Given the description of an element on the screen output the (x, y) to click on. 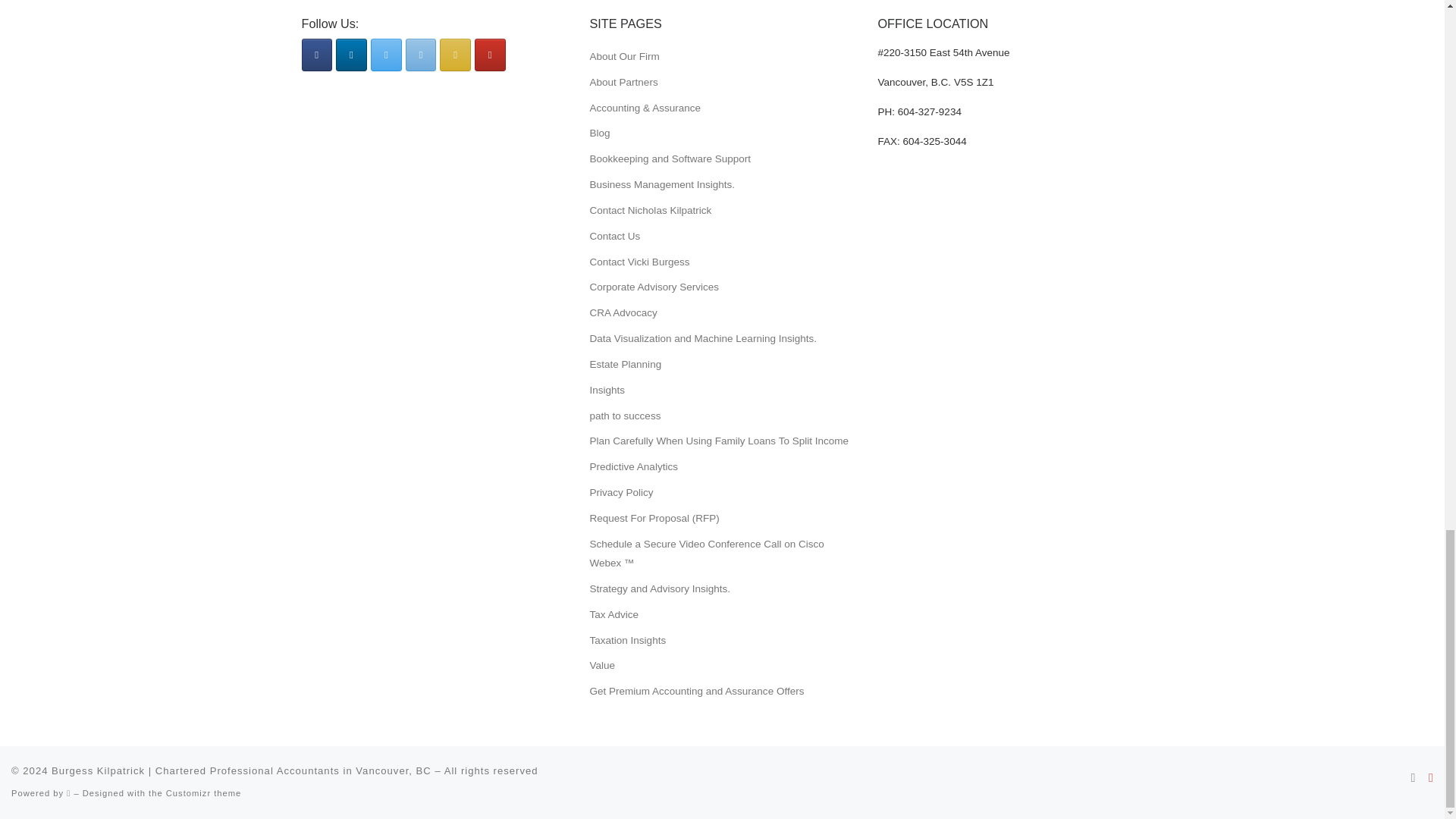
Nicholas Kilpatrick (421, 54)
Twitter (386, 54)
Customizr theme (203, 792)
LinkedIn (351, 54)
Facebook (317, 54)
